Given the description of an element on the screen output the (x, y) to click on. 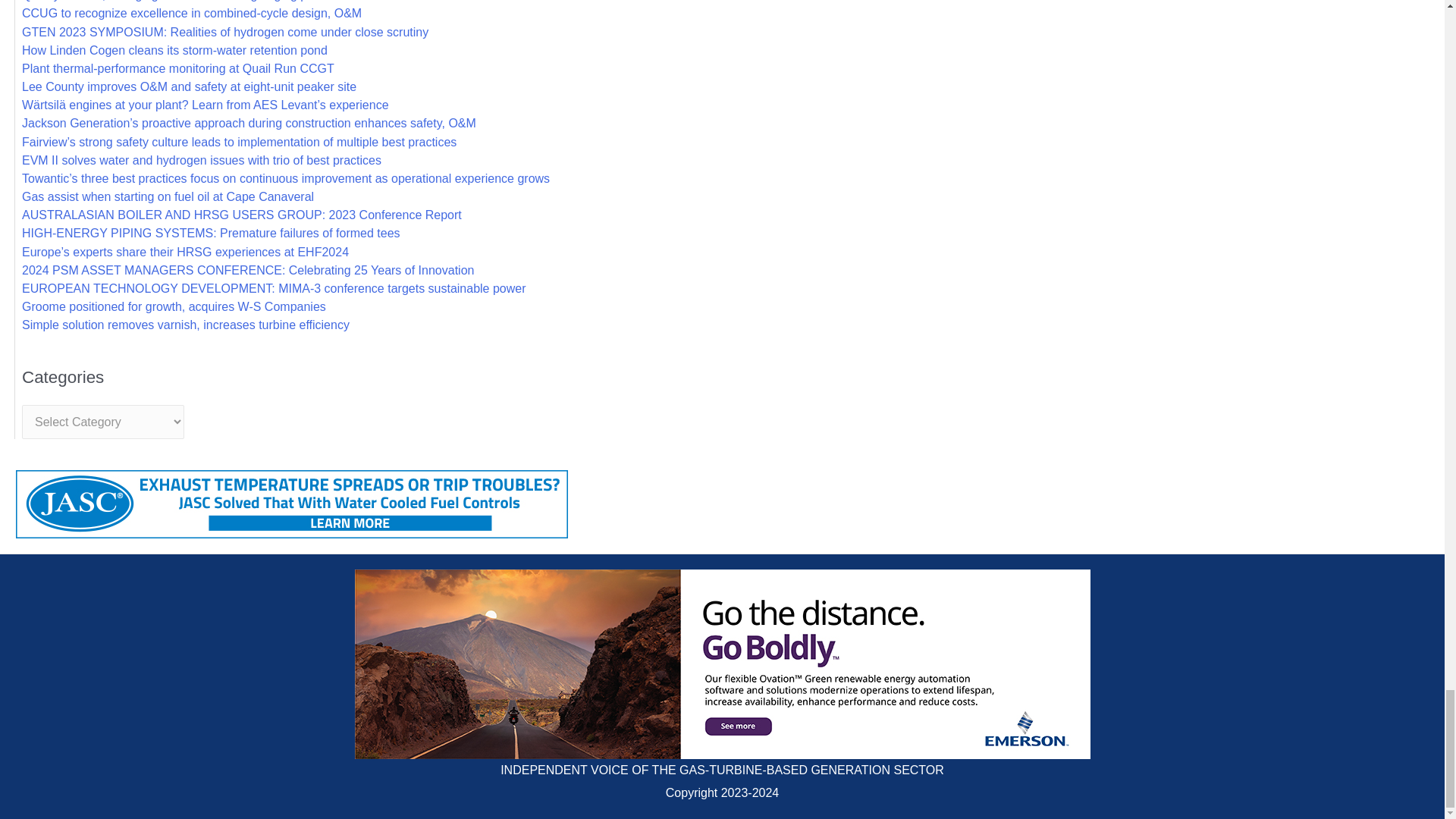
How Linden Cogen cleans its storm-water retention pond (174, 50)
